Given the description of an element on the screen output the (x, y) to click on. 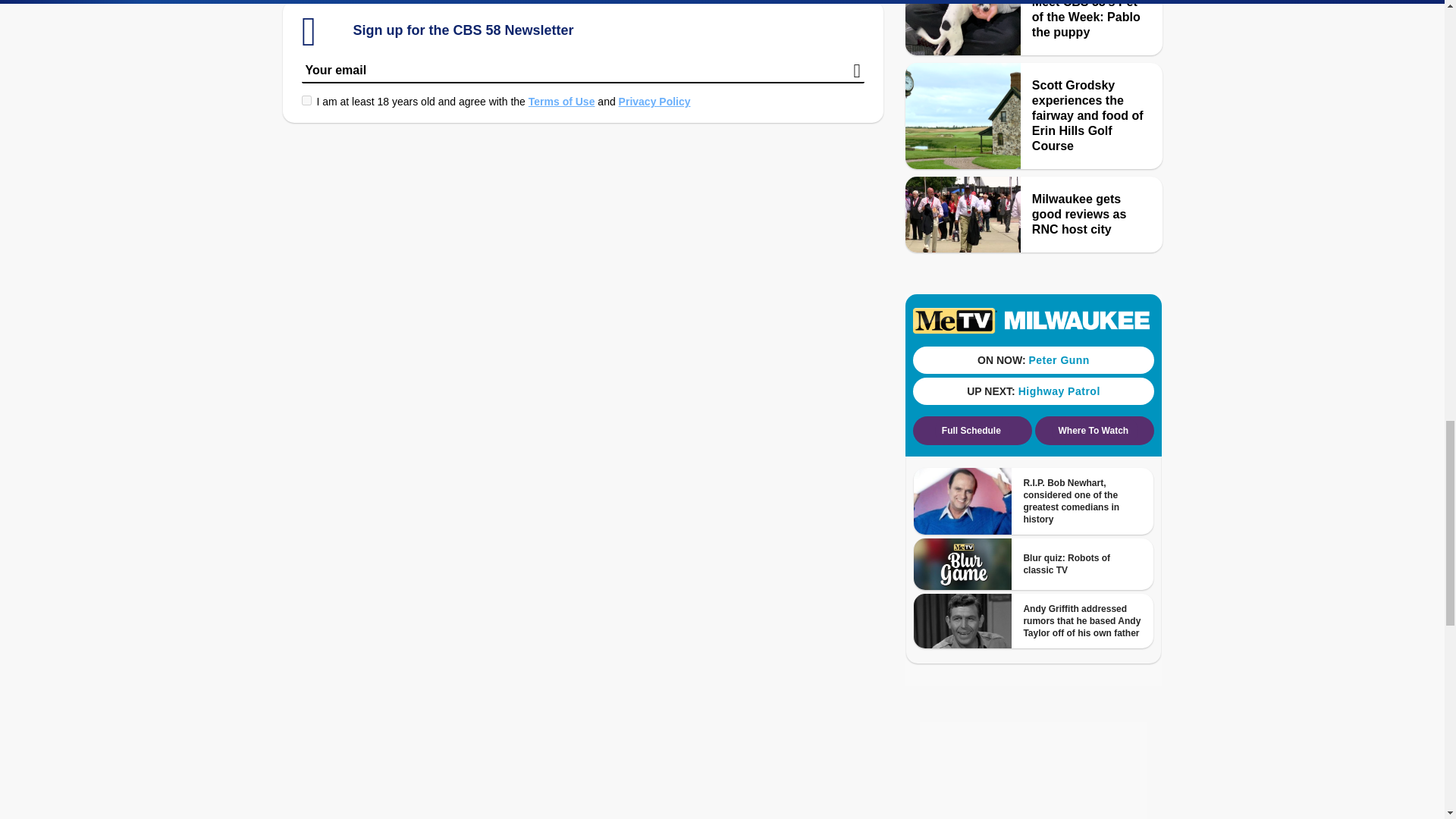
on (306, 100)
